Given the description of an element on the screen output the (x, y) to click on. 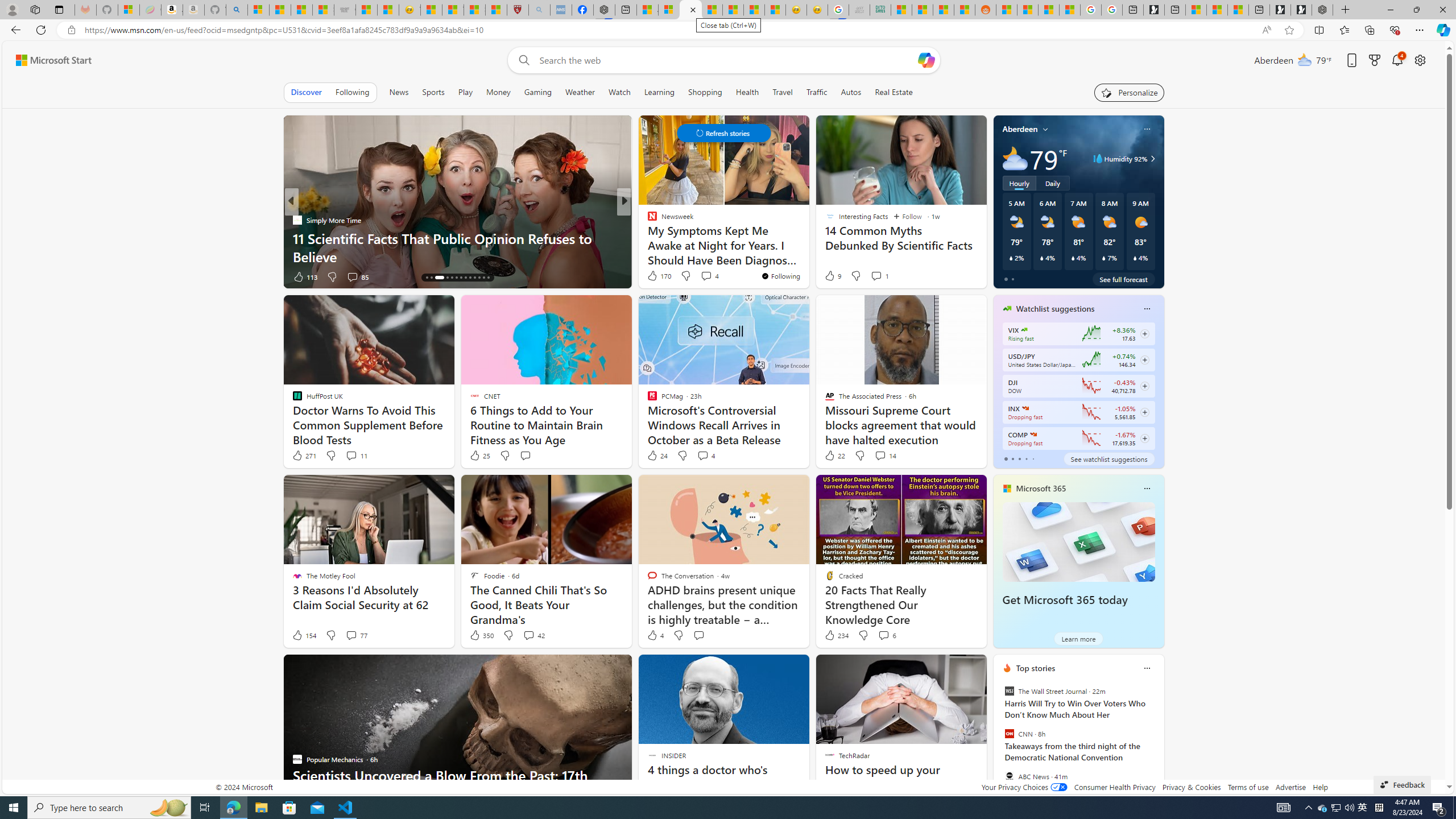
View comments 34 Comment (707, 276)
AutomationID: tab-14 (426, 277)
Enter your search term (726, 59)
Health (746, 92)
View comments 18 Comment (703, 276)
Fitness - MSN (732, 9)
View comments 14 Comment (885, 455)
AutomationID: tab-19 (456, 277)
View comments 11 Comment (350, 455)
